Given the description of an element on the screen output the (x, y) to click on. 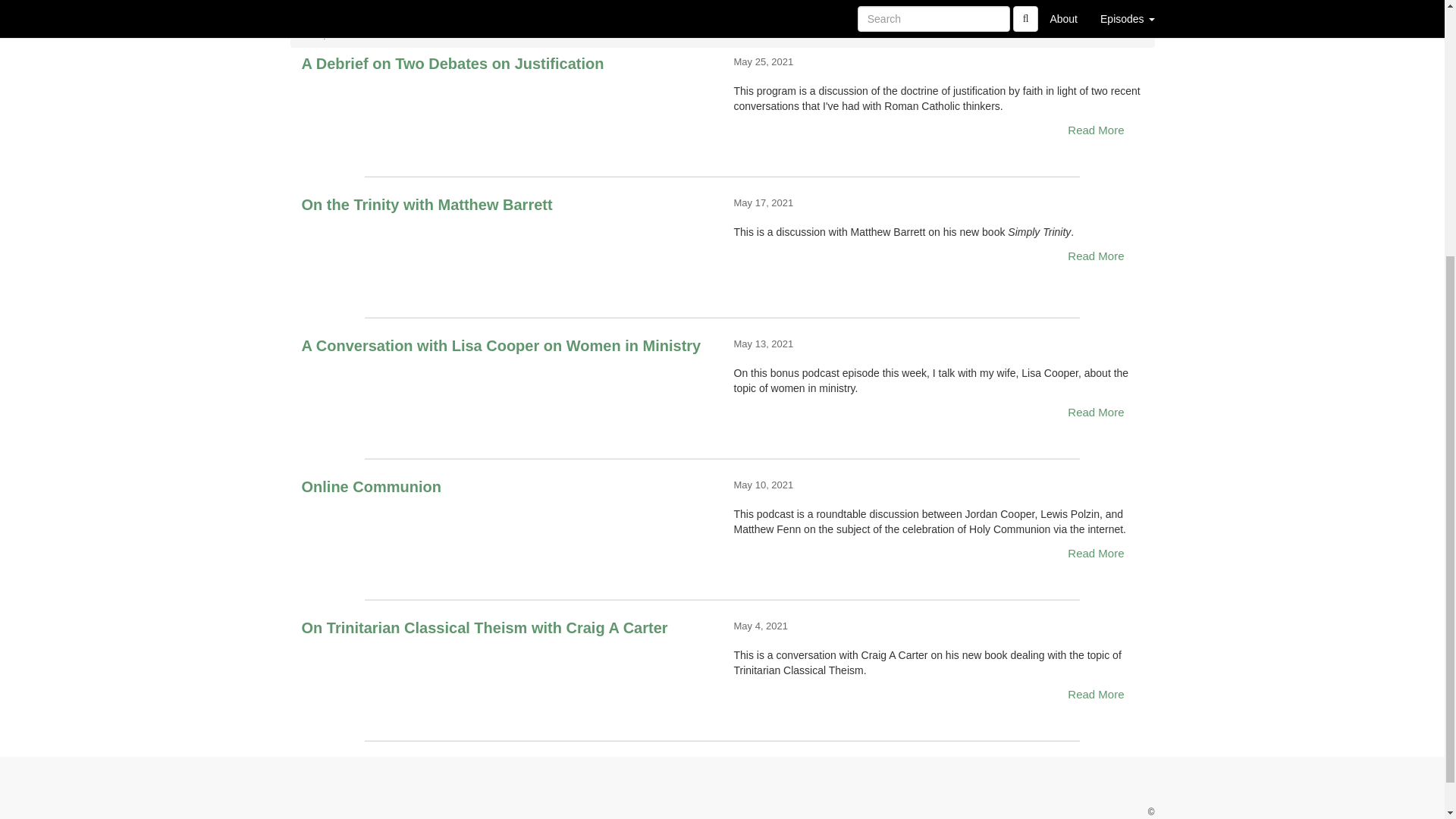
On Trinitarian Classical Theism with Craig A Carter (506, 673)
On the Trinity with Matthew Barrett (506, 251)
A Debrief on Two Debates on Justification (506, 110)
A Conversation with Lisa Cooper on Women in Ministry (506, 391)
Online Communion (506, 532)
